Given the description of an element on the screen output the (x, y) to click on. 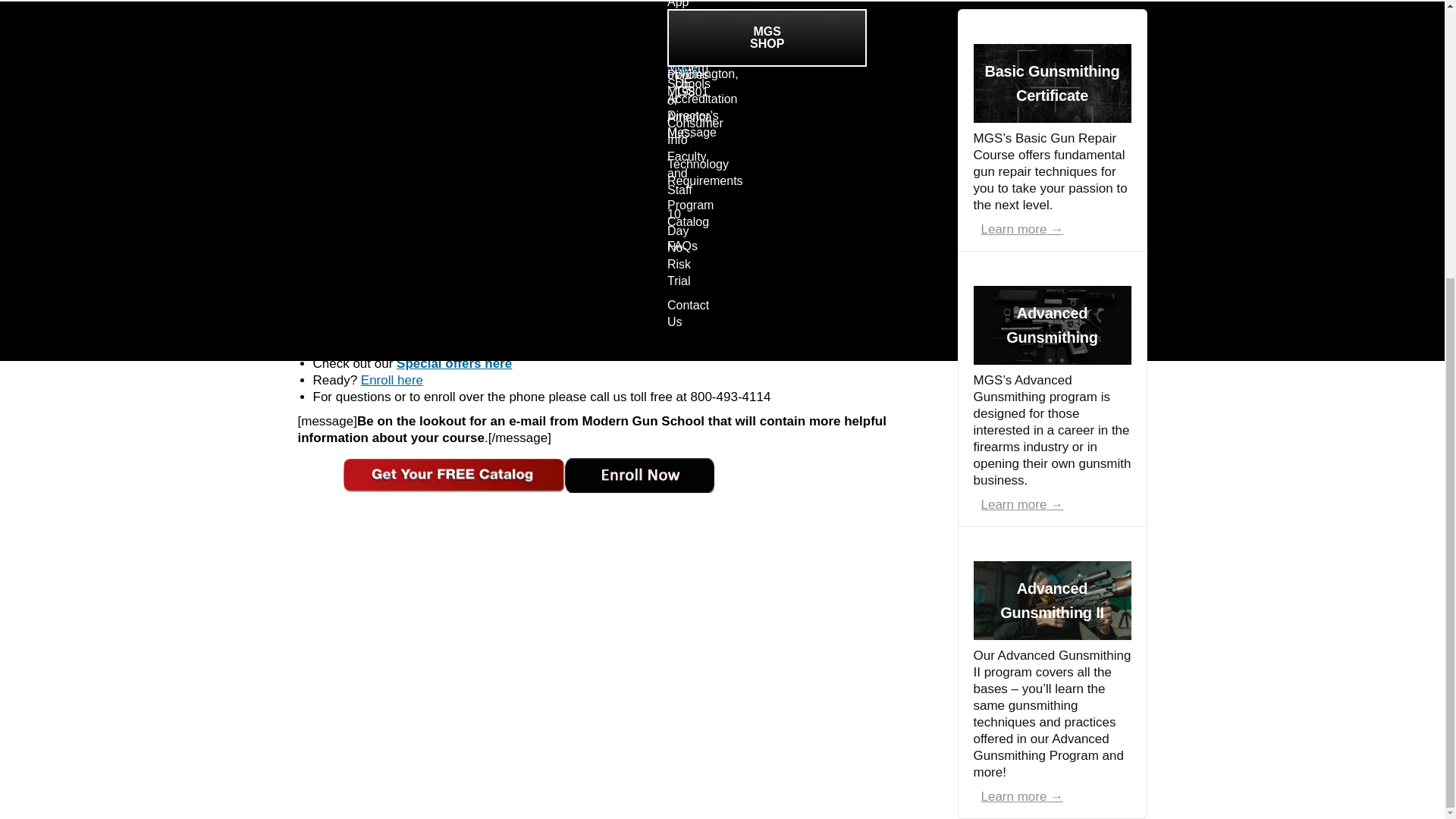
Modern Gun School Courses (454, 363)
Learn more (1022, 796)
Course Outline (505, 268)
Enroll Today in MGS (392, 380)
Learn more (1022, 504)
Special offers here (454, 363)
MGS Program Outline (344, 268)
MGS Program Outline (505, 268)
Enroll here (392, 380)
Learn more (1022, 228)
